Given the description of an element on the screen output the (x, y) to click on. 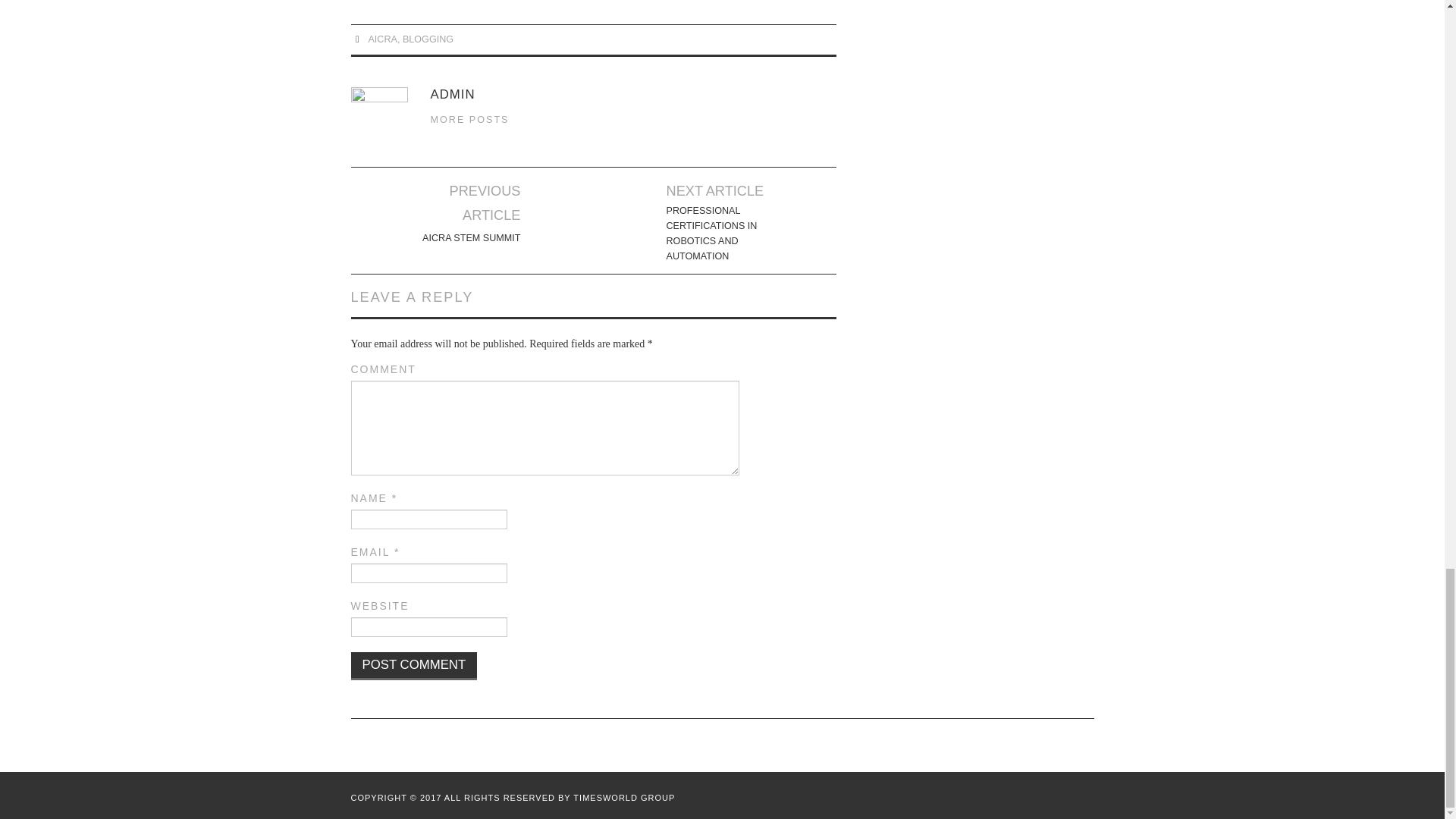
PROFESSIONAL CERTIFICATIONS IN ROBOTICS AND AUTOMATION (726, 233)
BLOGGING (427, 39)
Post Comment (413, 665)
MORE POSTS (469, 119)
Post Comment (413, 665)
AICRA (382, 39)
AICRA STEM SUMMIT (470, 237)
